Given the description of an element on the screen output the (x, y) to click on. 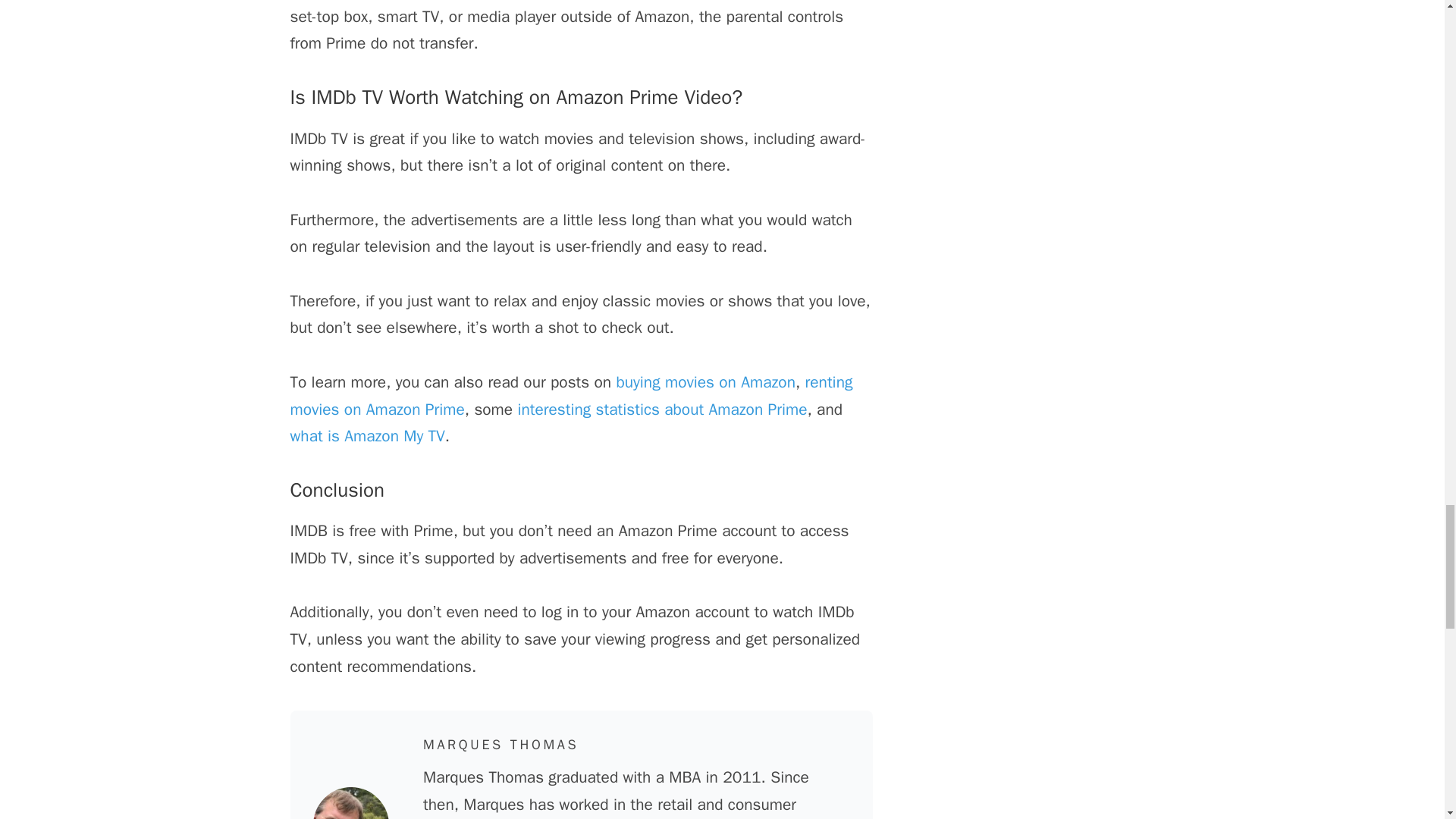
what is Amazon My TV (366, 435)
renting movies on Amazon Prime (570, 395)
buying movies on Amazon (704, 382)
interesting statistics about Amazon Prime (661, 408)
